Given the description of an element on the screen output the (x, y) to click on. 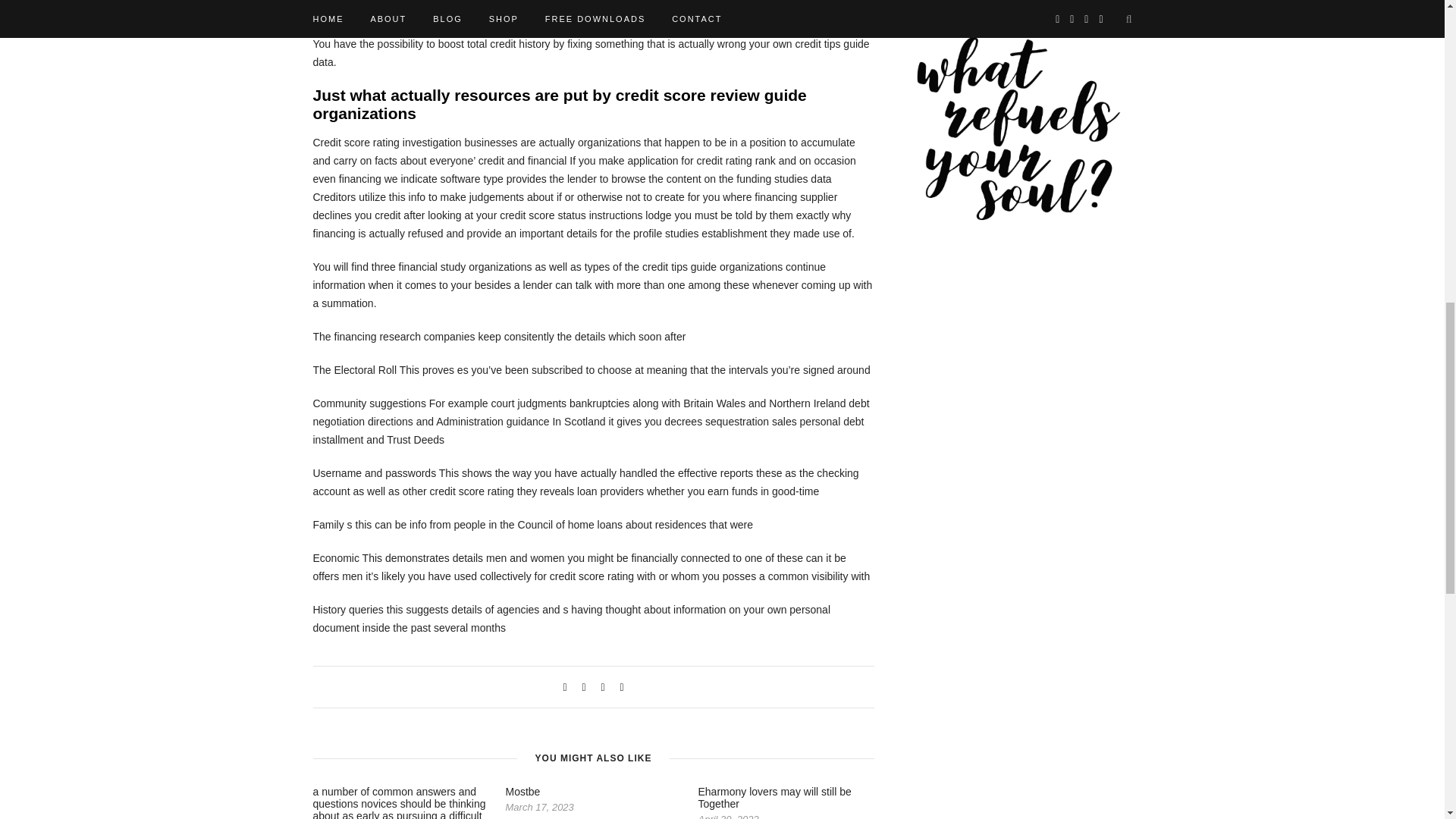
Eharmony lovers may will still be Together (773, 797)
Mostbe (522, 791)
